Given the description of an element on the screen output the (x, y) to click on. 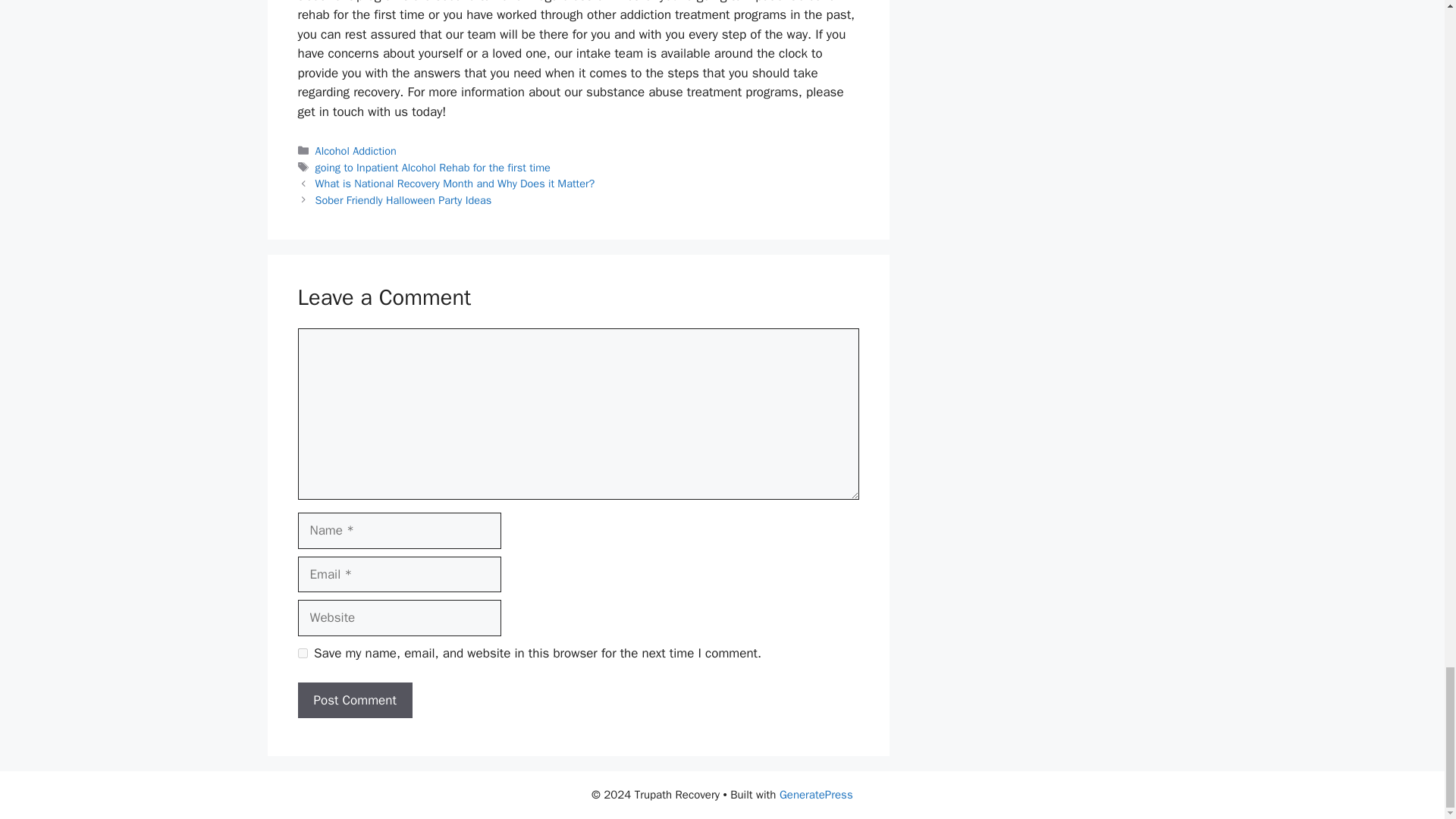
Post Comment (354, 700)
yes (302, 653)
